Given the description of an element on the screen output the (x, y) to click on. 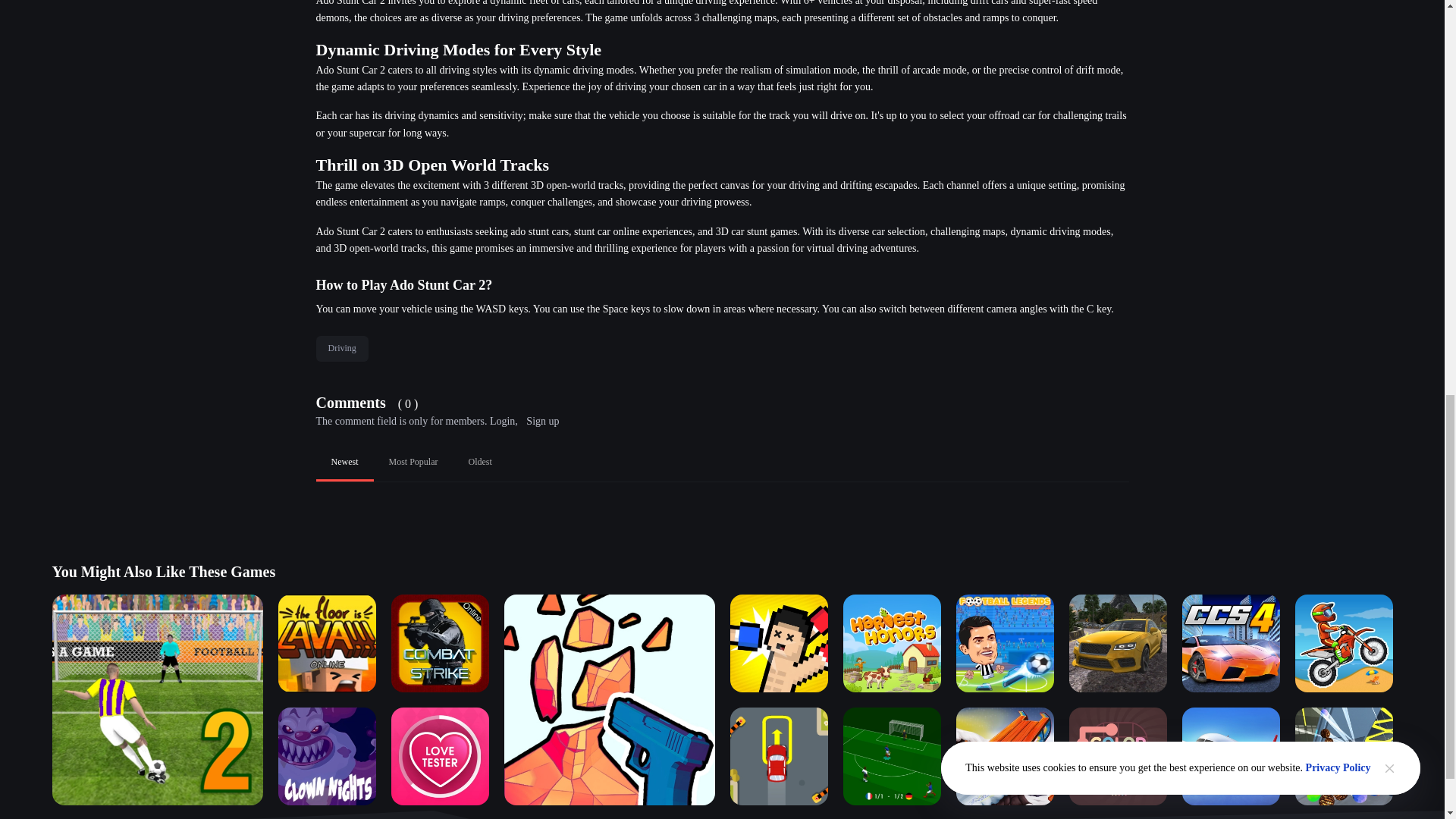
Driving (341, 348)
Login (502, 420)
